Given the description of an element on the screen output the (x, y) to click on. 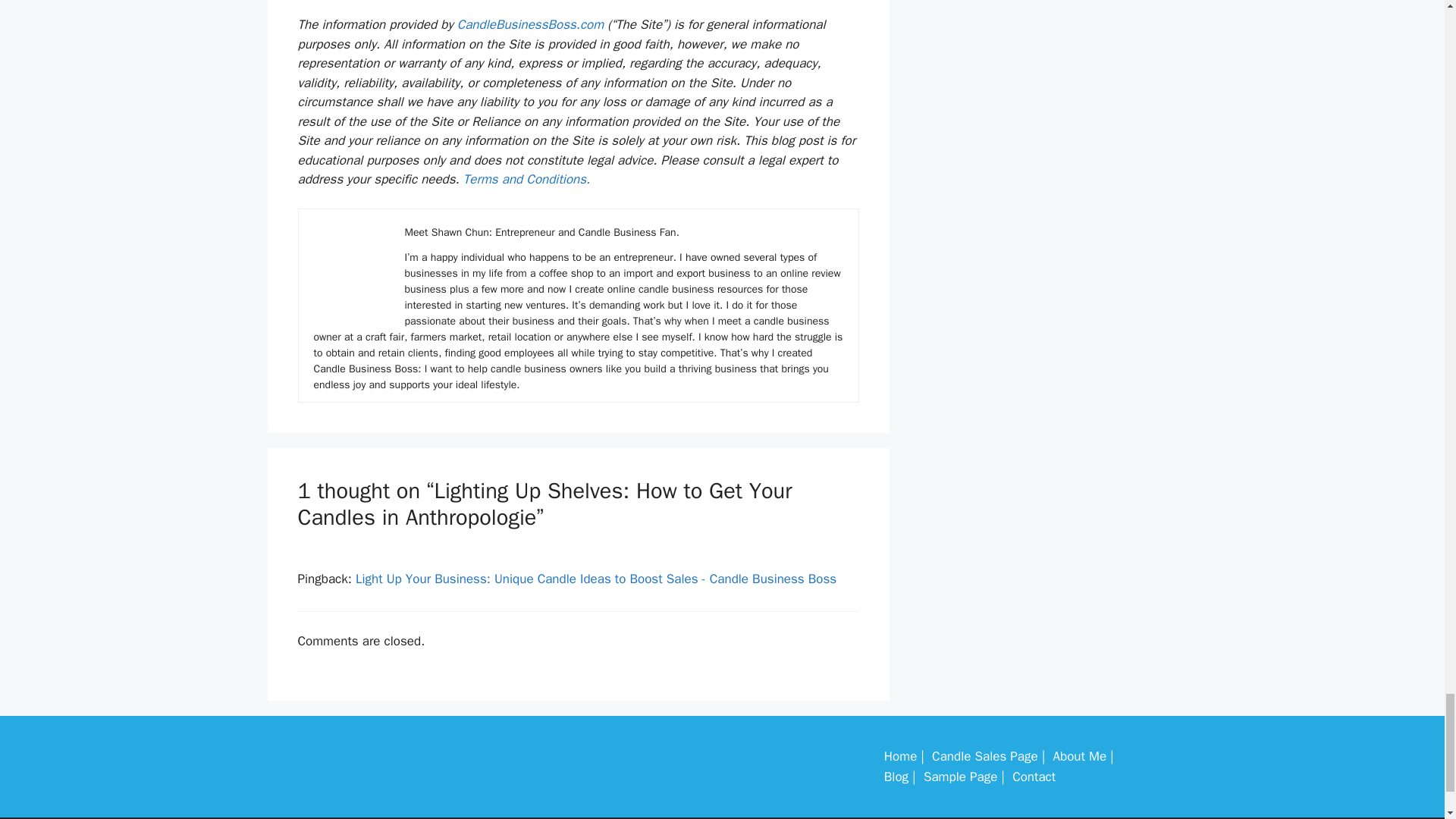
CandleBusinessBoss.com (530, 24)
Terms and Conditions. (526, 179)
